Given the description of an element on the screen output the (x, y) to click on. 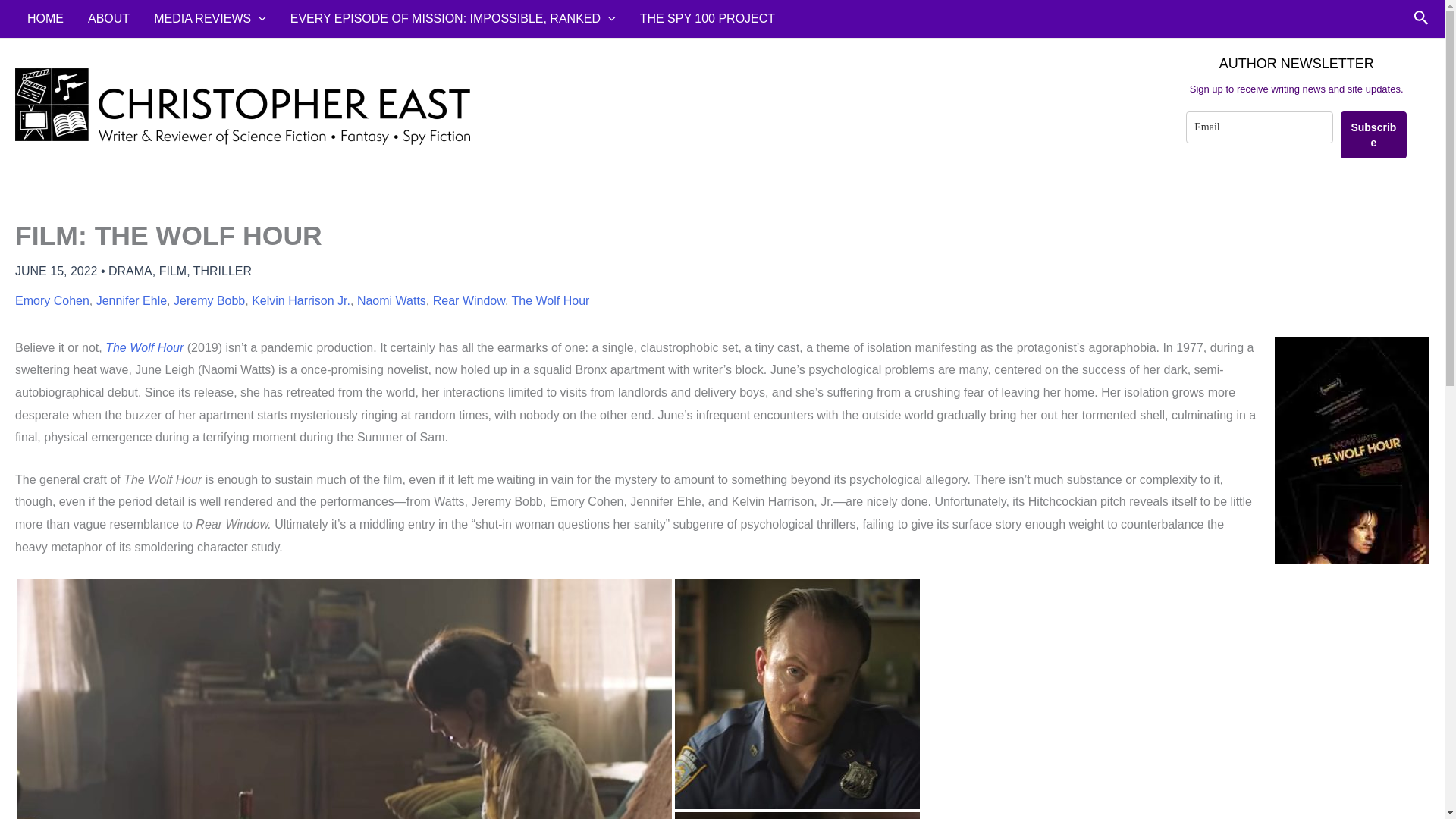
THE SPY 100 PROJECT (707, 18)
EVERY EPISODE OF MISSION: IMPOSSIBLE, RANKED (452, 18)
Jennifer Ehle (131, 300)
Jeremy Bobb (208, 300)
Kelvin Harrison Jr. (300, 300)
Naomi Watts (391, 300)
HOME (44, 18)
FILM (172, 270)
THRILLER (222, 270)
Emory Cohen (51, 300)
